Given the description of an element on the screen output the (x, y) to click on. 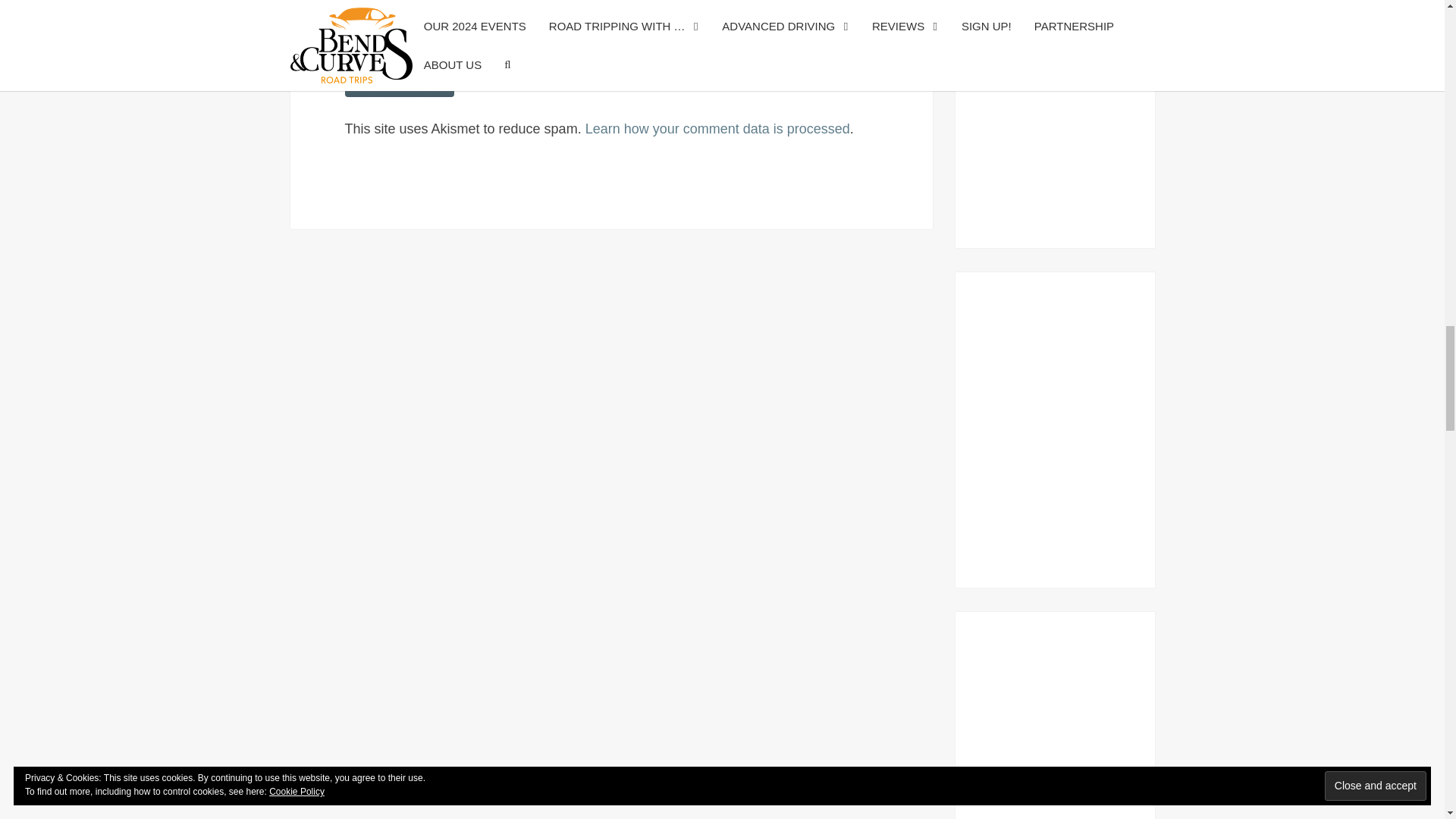
Post Comment (398, 81)
subscribe (348, 3)
subscribe (348, 39)
